Given the description of an element on the screen output the (x, y) to click on. 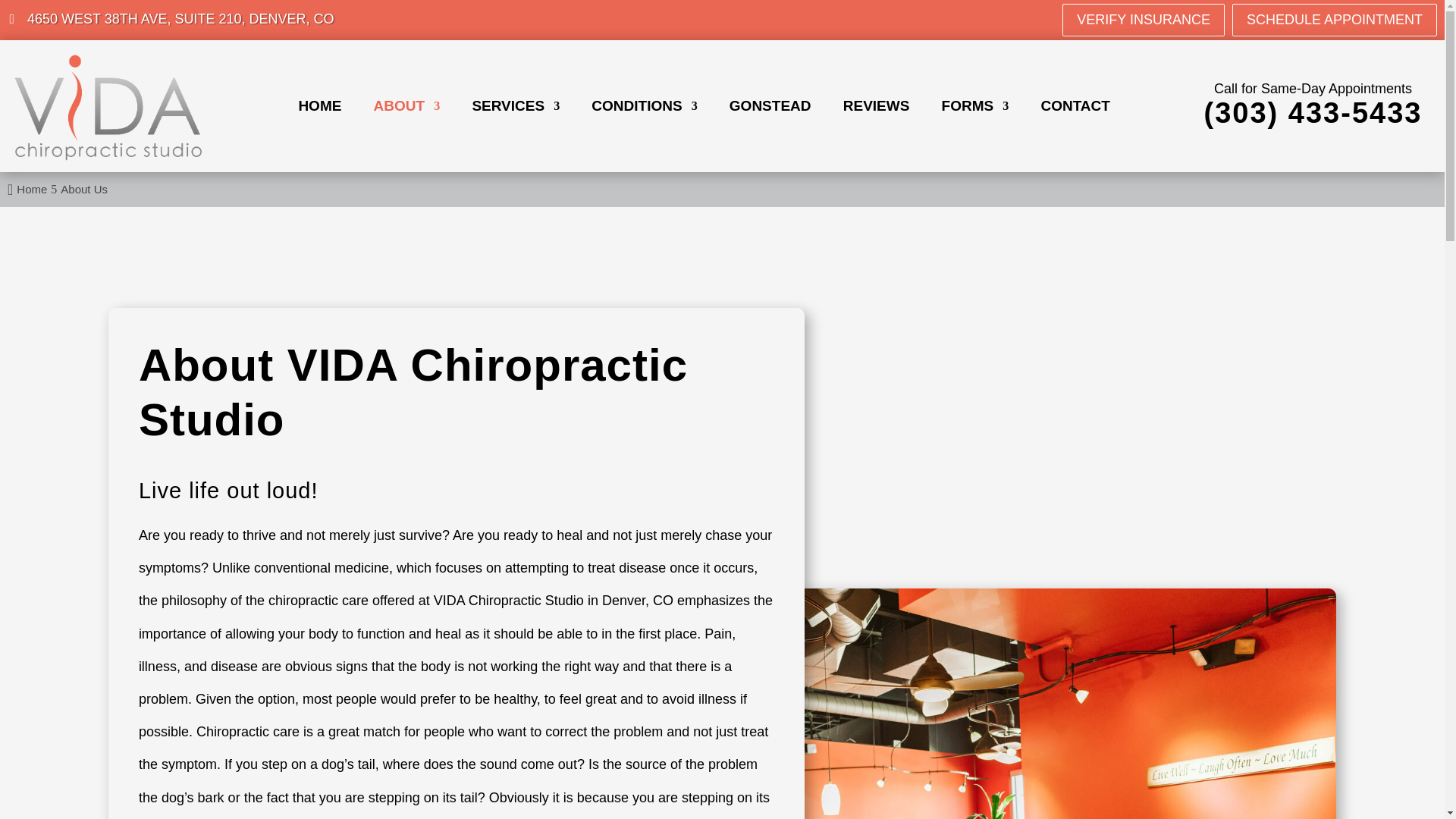
HOME (319, 108)
SCHEDULE APPOINTMENT (1334, 20)
VERIFY INSURANCE (1143, 20)
Vidachiro-Waiting-Area (1045, 703)
4650 WEST 38TH AVE, SUITE 210, DENVER, CO (171, 19)
FORMS (975, 108)
CONTACT (1075, 108)
ABOUT (407, 108)
GONSTEAD (769, 108)
CONDITIONS (644, 108)
